Given the description of an element on the screen output the (x, y) to click on. 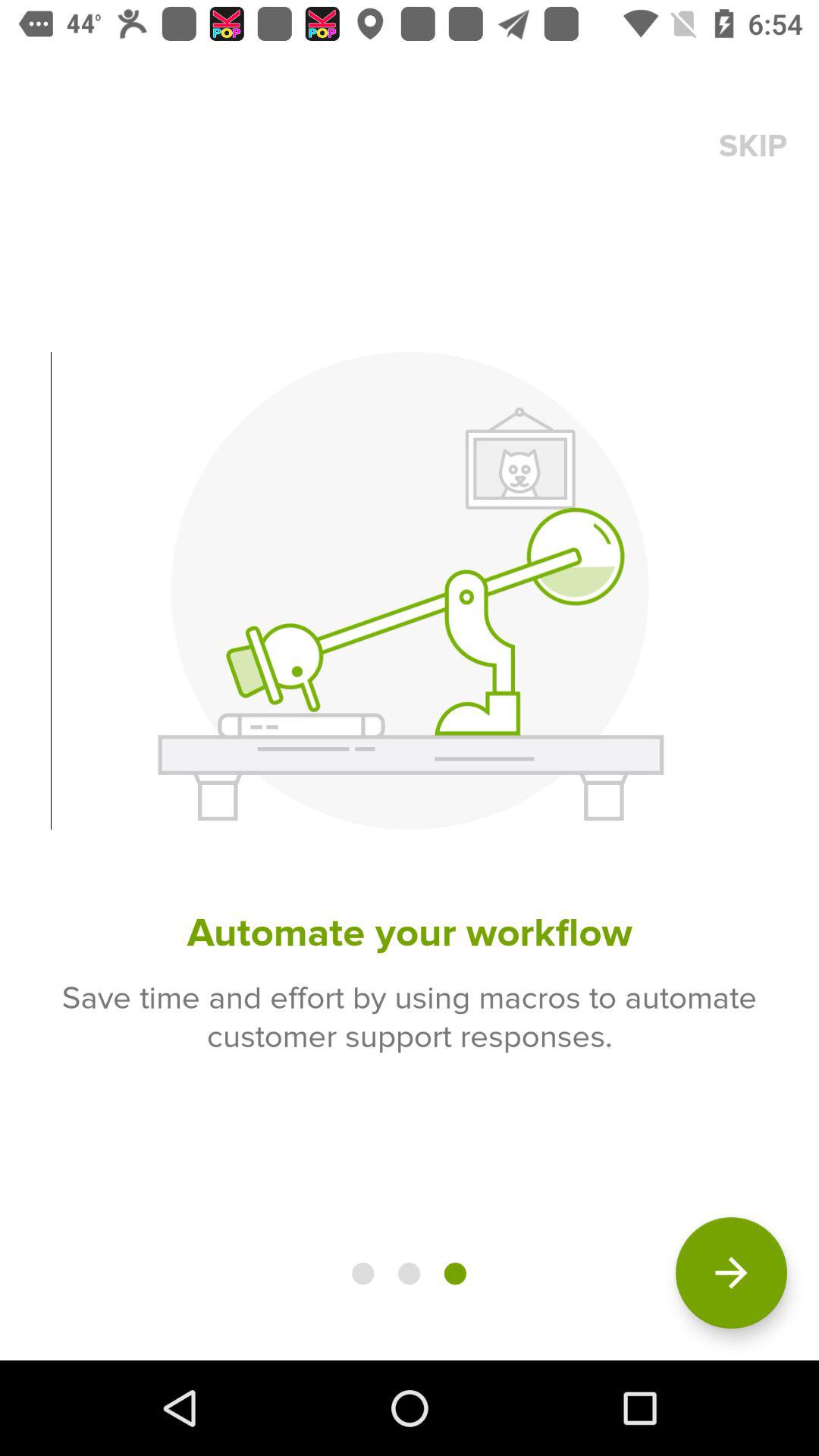
advances to next page (731, 1272)
